Given the description of an element on the screen output the (x, y) to click on. 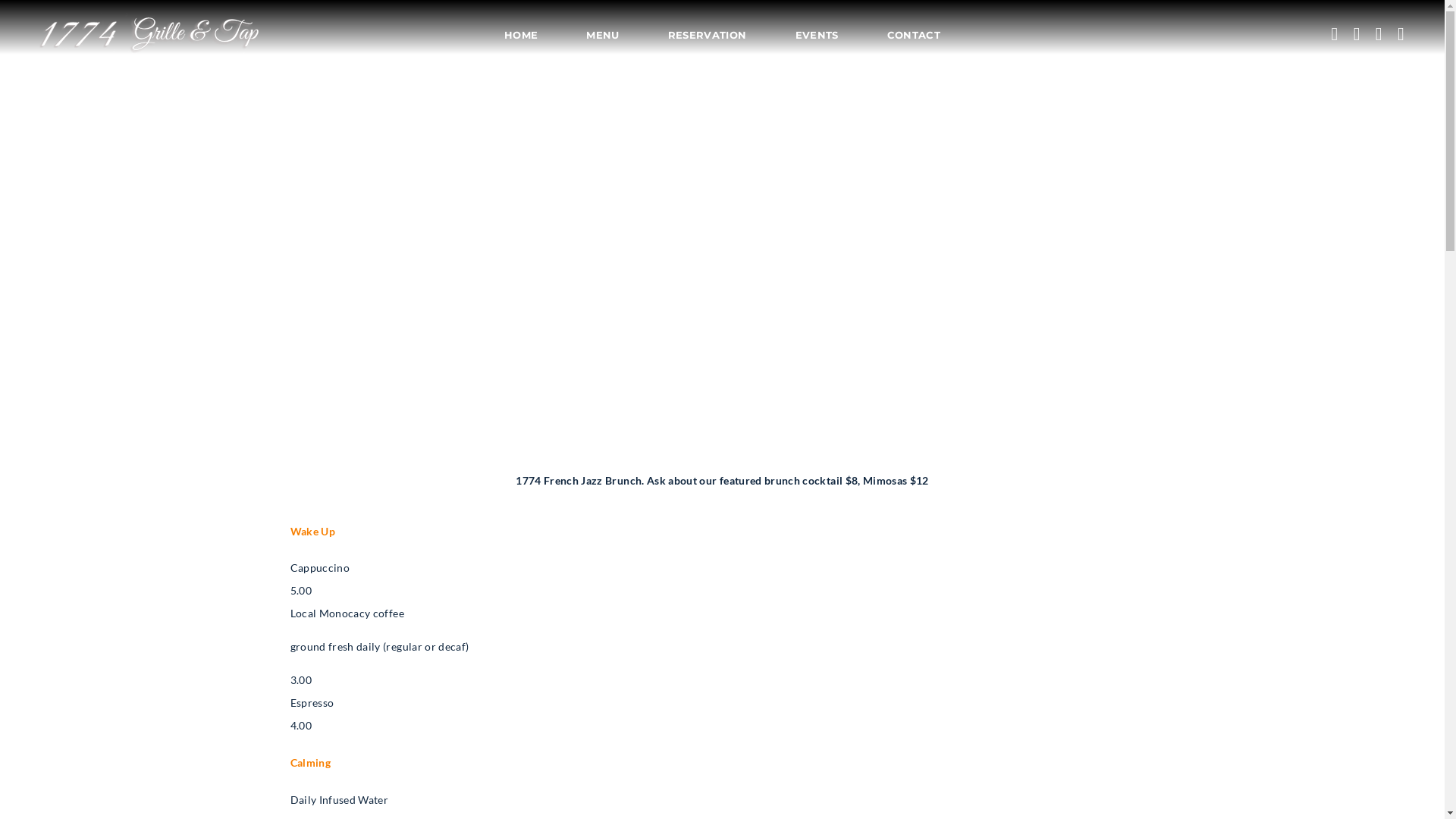
CONTACT Element type: text (901, 34)
HOME Element type: text (532, 34)
RESERVATION Element type: text (707, 34)
EVENTS Element type: text (816, 34)
MENU Element type: text (602, 34)
